Given the description of an element on the screen output the (x, y) to click on. 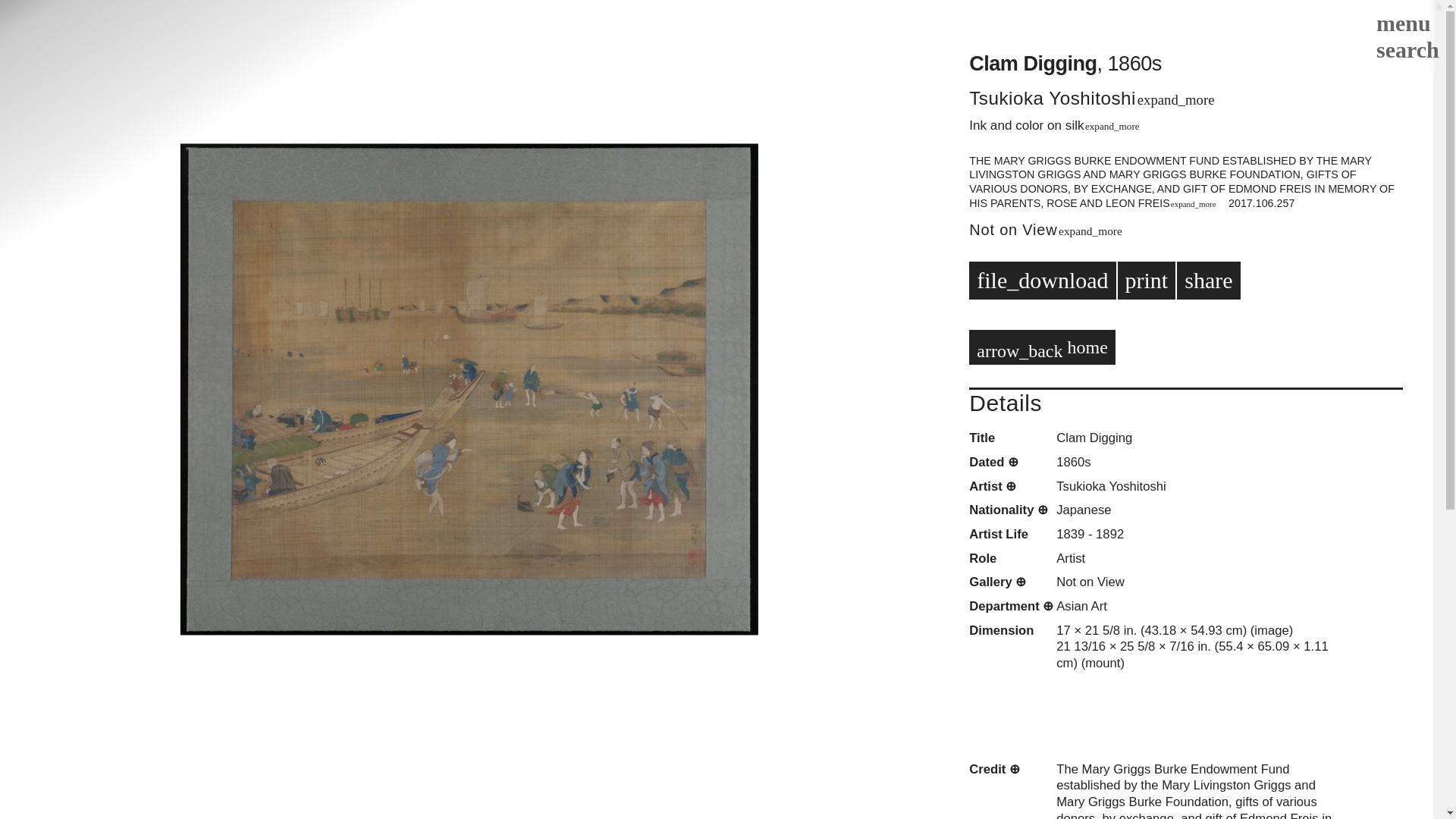
search (1403, 48)
menu (1399, 22)
search (1403, 52)
Ink and color on silk (1026, 124)
Tsukioka Yoshitoshi (1052, 97)
Not on View (1013, 229)
